Given the description of an element on the screen output the (x, y) to click on. 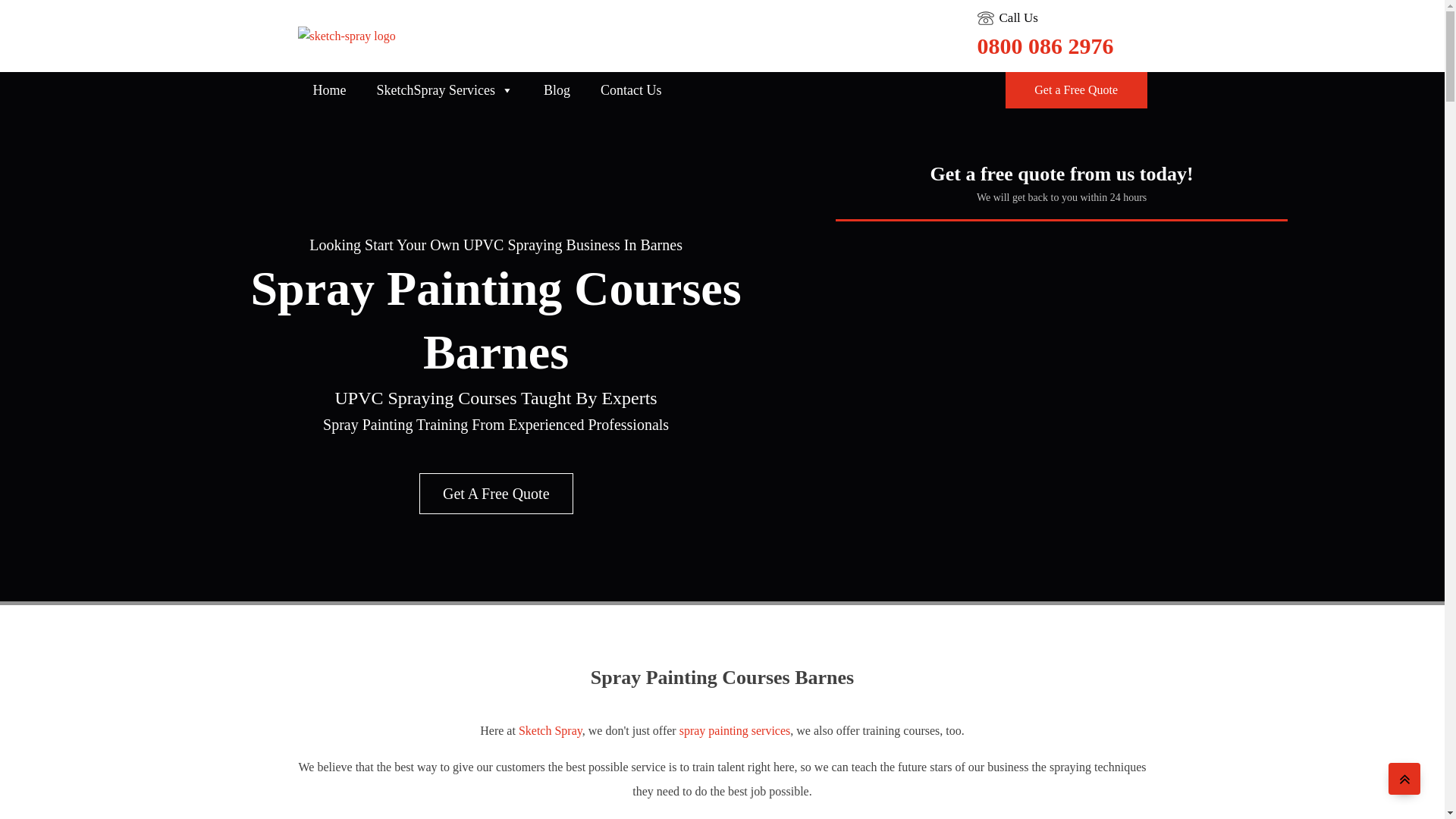
Get a Free Quote (1076, 90)
Home (329, 90)
Blog (556, 90)
SketchSpray Services (444, 90)
spray painting services (734, 730)
Get A Free Quote (496, 493)
Contact Us (631, 90)
Sketch Spray (550, 730)
0800 086 2976 (1044, 45)
